Given the description of an element on the screen output the (x, y) to click on. 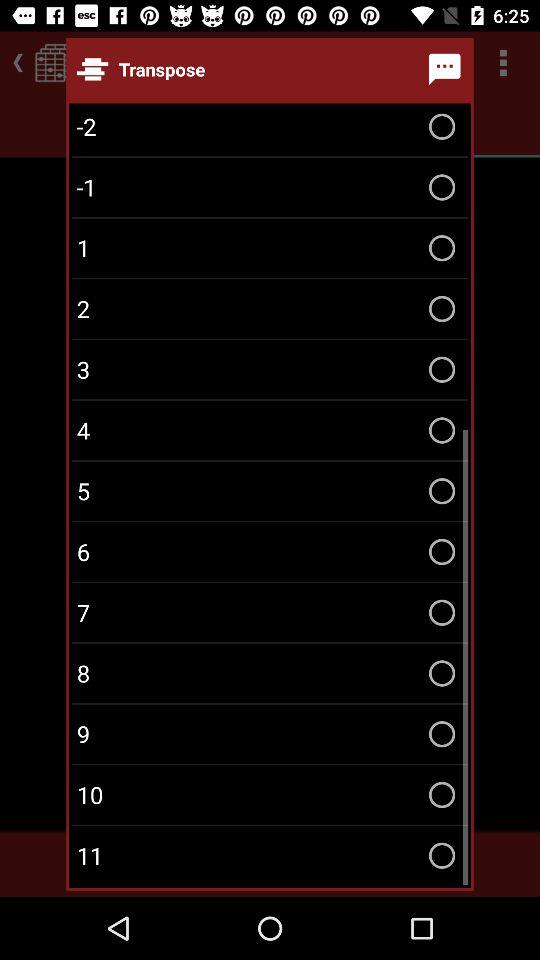
turn on 5 icon (269, 490)
